Given the description of an element on the screen output the (x, y) to click on. 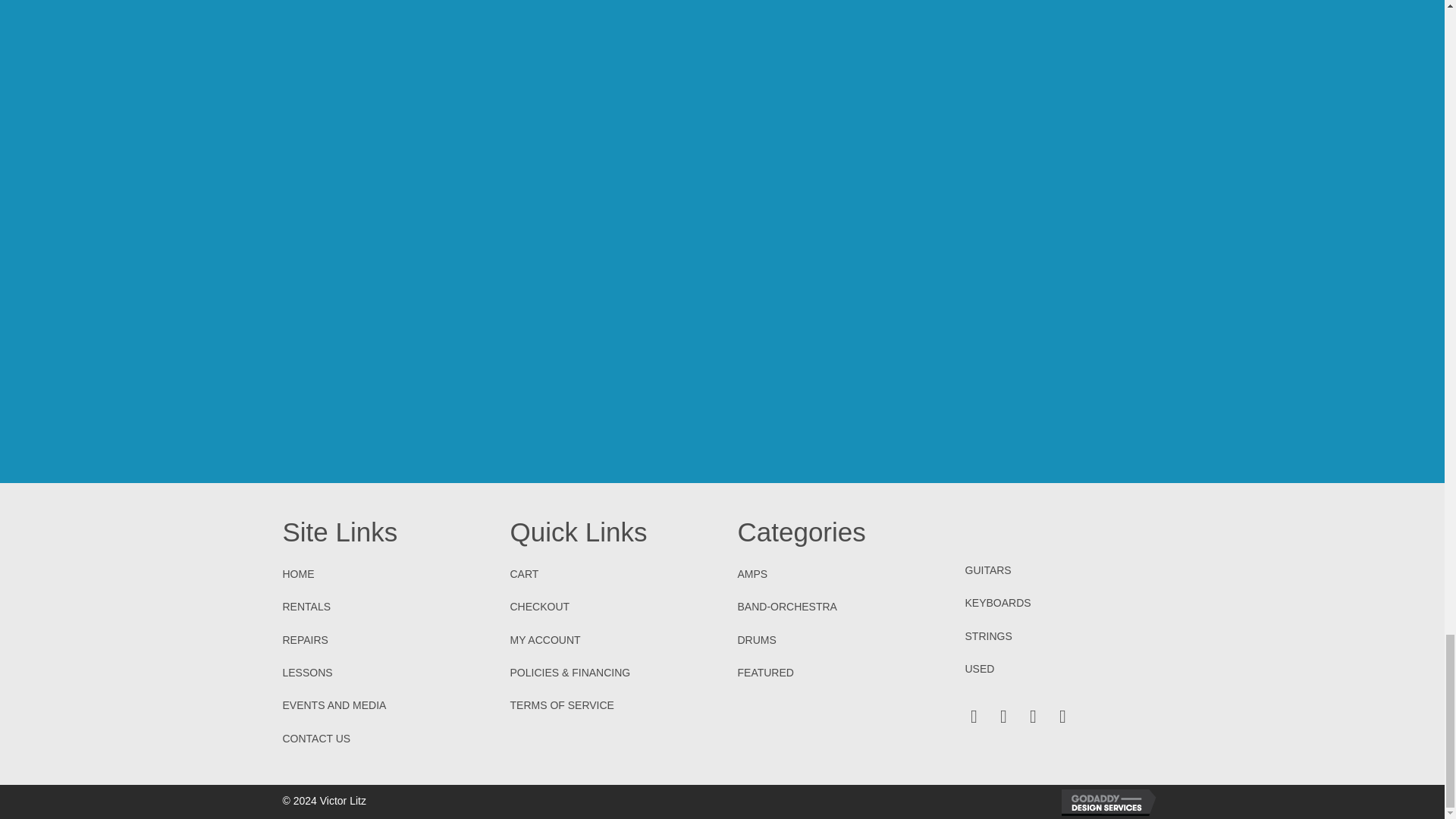
Twitter (1003, 716)
Facebook (972, 716)
